Given the description of an element on the screen output the (x, y) to click on. 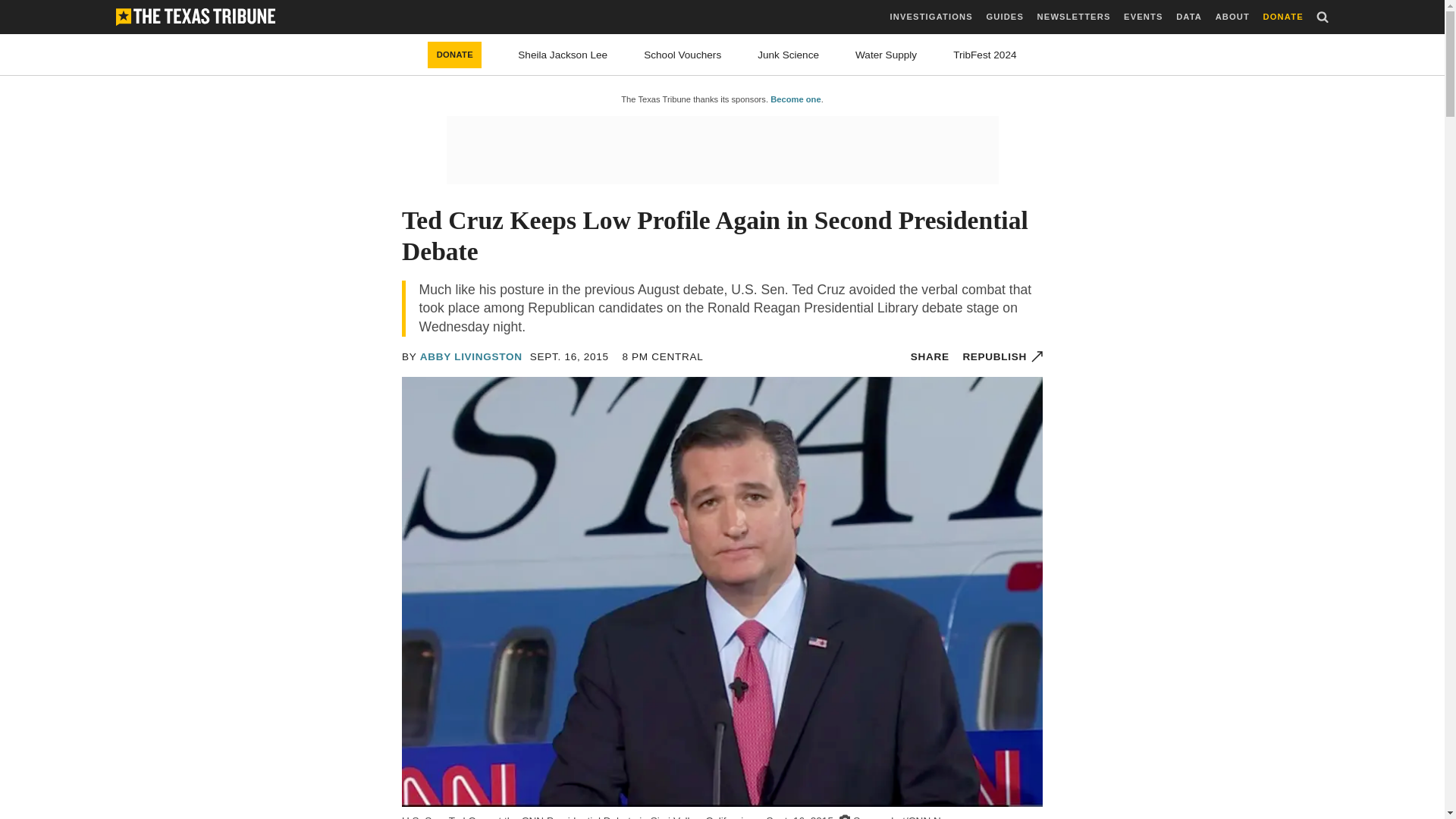
Become one (795, 99)
Sign up (794, 481)
School Vouchers (681, 54)
DONATE (454, 54)
INVESTIGATIONS (930, 17)
3rd party ad content (721, 150)
NEWSLETTERS (1073, 17)
EVENTS (1142, 17)
Sheila Jackson Lee (562, 54)
Junk Science (787, 54)
GUIDES (1004, 17)
TribFest 2024 (984, 54)
2015-09-16 20:50 CDT (662, 356)
REPUBLISH (1002, 356)
ABBY LIVINGSTON (471, 356)
